Given the description of an element on the screen output the (x, y) to click on. 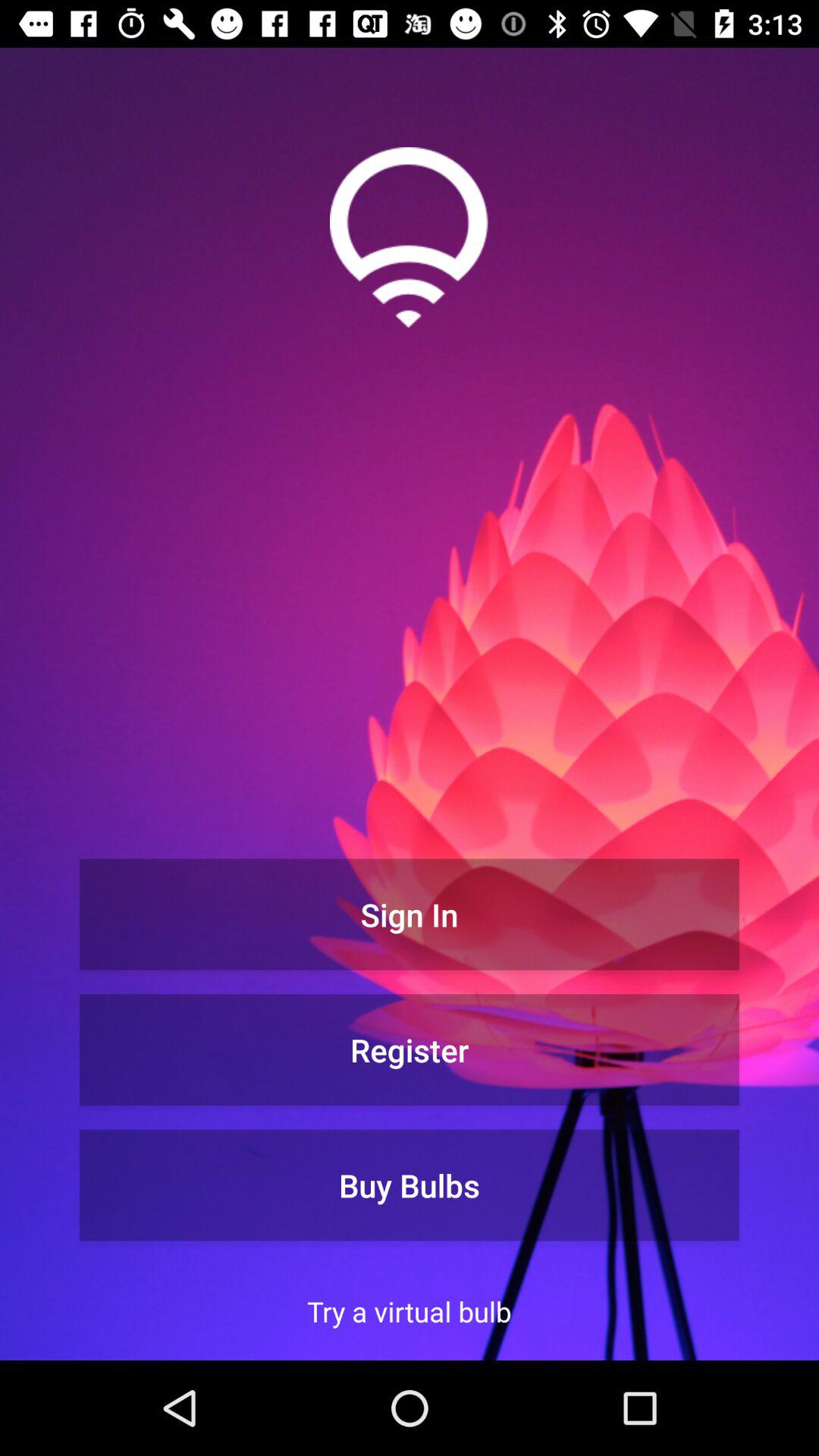
jump until sign in item (409, 914)
